Given the description of an element on the screen output the (x, y) to click on. 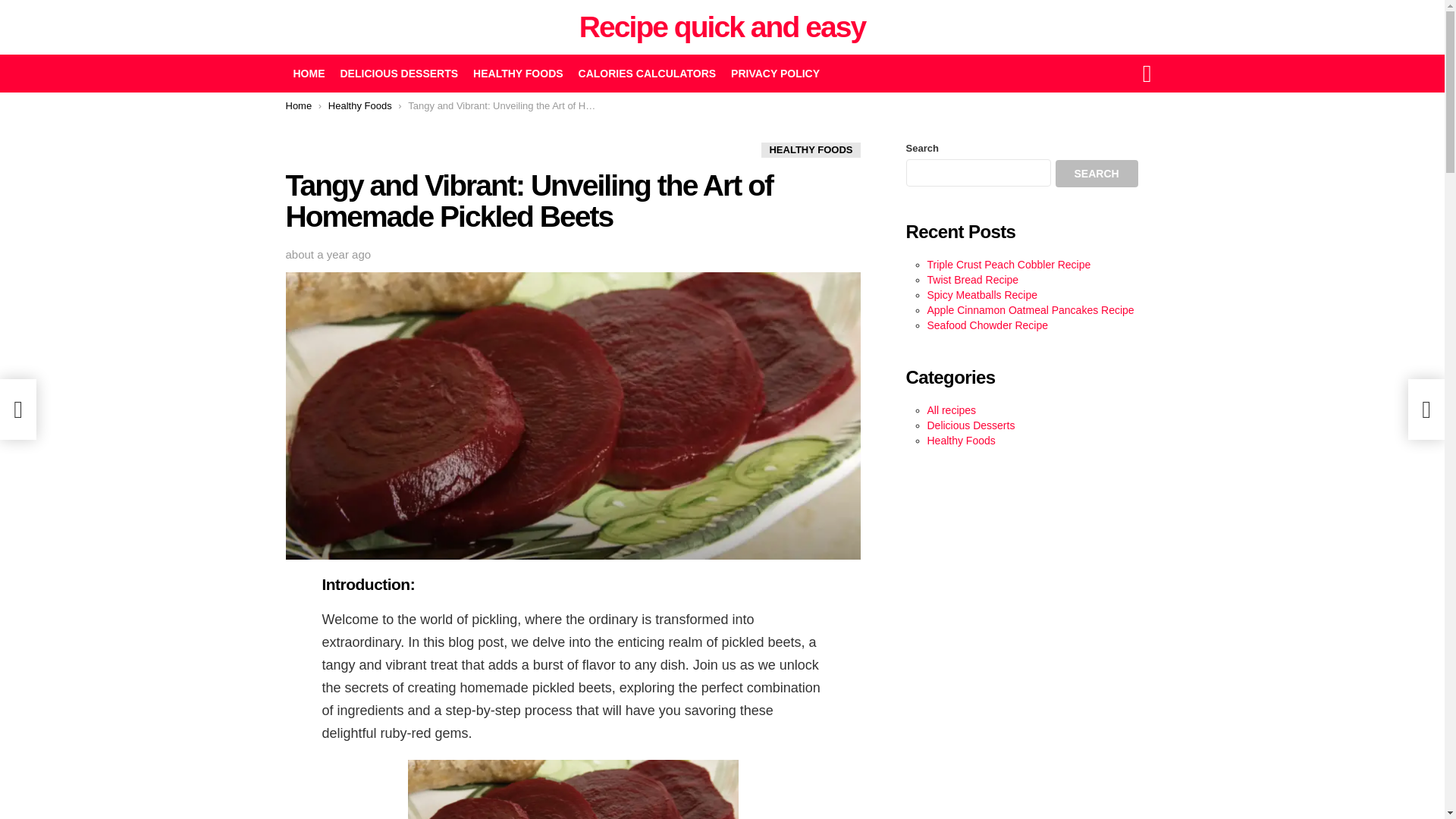
HEALTHY FOODS (517, 73)
Delicious Desserts (970, 425)
All recipes (950, 410)
CALORIES CALCULATORS (646, 73)
Triple Crust Peach Cobbler Recipe (1008, 264)
Recipe quick and easy (721, 26)
Twist Bread Recipe (971, 279)
SEARCH (1096, 173)
DELICIOUS DESSERTS (398, 73)
31 May 2023, 18:18 (328, 254)
